Given the description of an element on the screen output the (x, y) to click on. 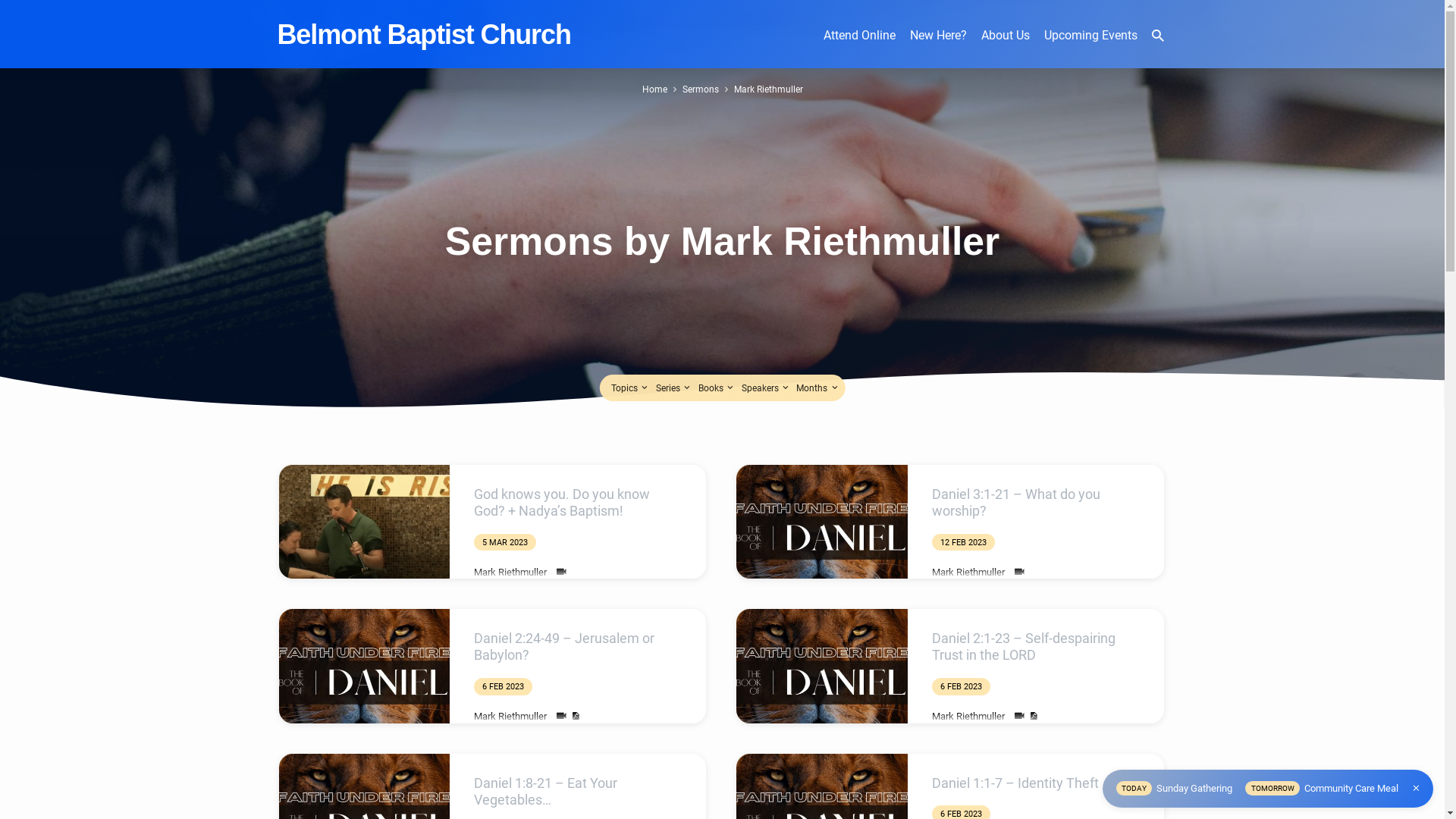
Open Search Element type: hover (1157, 35)
Books Element type: text (717, 387)
Download PDF Element type: hover (1033, 715)
Upcoming Events Element type: text (1089, 44)
Watch Video Element type: hover (561, 716)
About Us Element type: text (1005, 44)
Belmont Baptist Church Element type: text (424, 34)
Sermons Element type: text (700, 88)
Mark Riethmuller Element type: text (768, 88)
Mark Riethmuller Element type: text (967, 715)
TODAY Sunday Gathering Element type: text (1174, 787)
Mark Riethmuller Element type: text (509, 571)
Close Element type: hover (1416, 787)
Watch Video Element type: hover (1019, 716)
Watch Video Element type: hover (561, 571)
Months Element type: text (818, 387)
Home Element type: text (653, 88)
Mark Riethmuller Element type: text (509, 715)
Watch Video Element type: hover (1019, 571)
Series Element type: text (674, 387)
Topics Element type: text (630, 387)
Attend Online Element type: text (859, 44)
Speakers Element type: text (766, 387)
Download PDF Element type: hover (575, 715)
TOMORROW Community Care Meal Element type: text (1321, 787)
Mark Riethmuller Element type: text (967, 571)
New Here? Element type: text (938, 44)
